Given the description of an element on the screen output the (x, y) to click on. 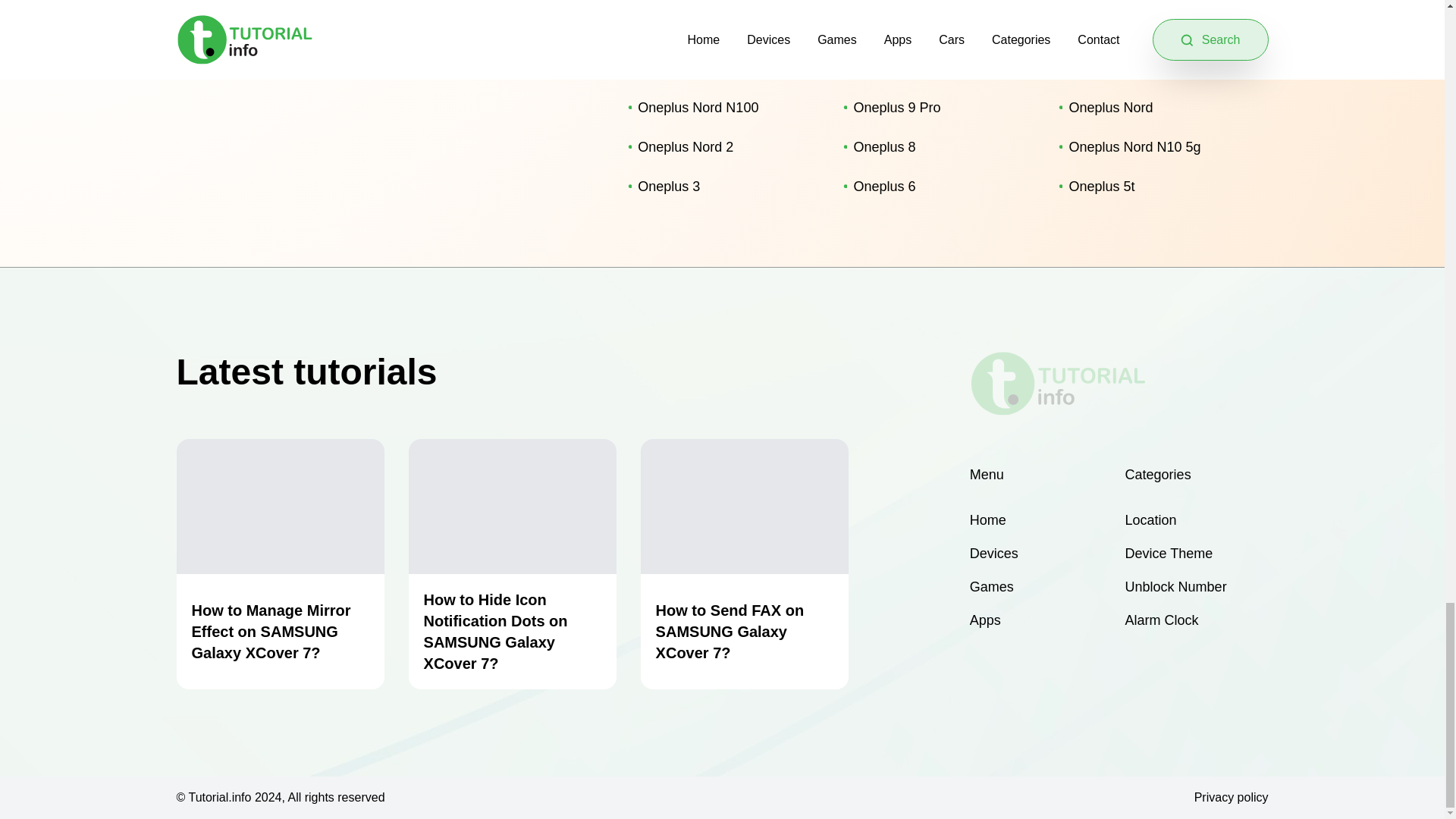
Oneplus Nord N100 (723, 107)
Oneplus Nord N10 5g (1154, 147)
Oneplus 8t (1154, 28)
Oneplus 10 Pro Extreme Edition (938, 67)
Oneplus Nord (1154, 107)
Oneplus 8 (938, 147)
Oneplus 9 Pro (938, 107)
Oneplus Nord Ce 5g (1154, 67)
Oneplus 5t (1154, 186)
Oneplus Nord 2t (723, 28)
Oneplus 6 (938, 186)
Oneplus 8 Pro (723, 67)
Oneplus 10 Pro 5g (938, 28)
